Given the description of an element on the screen output the (x, y) to click on. 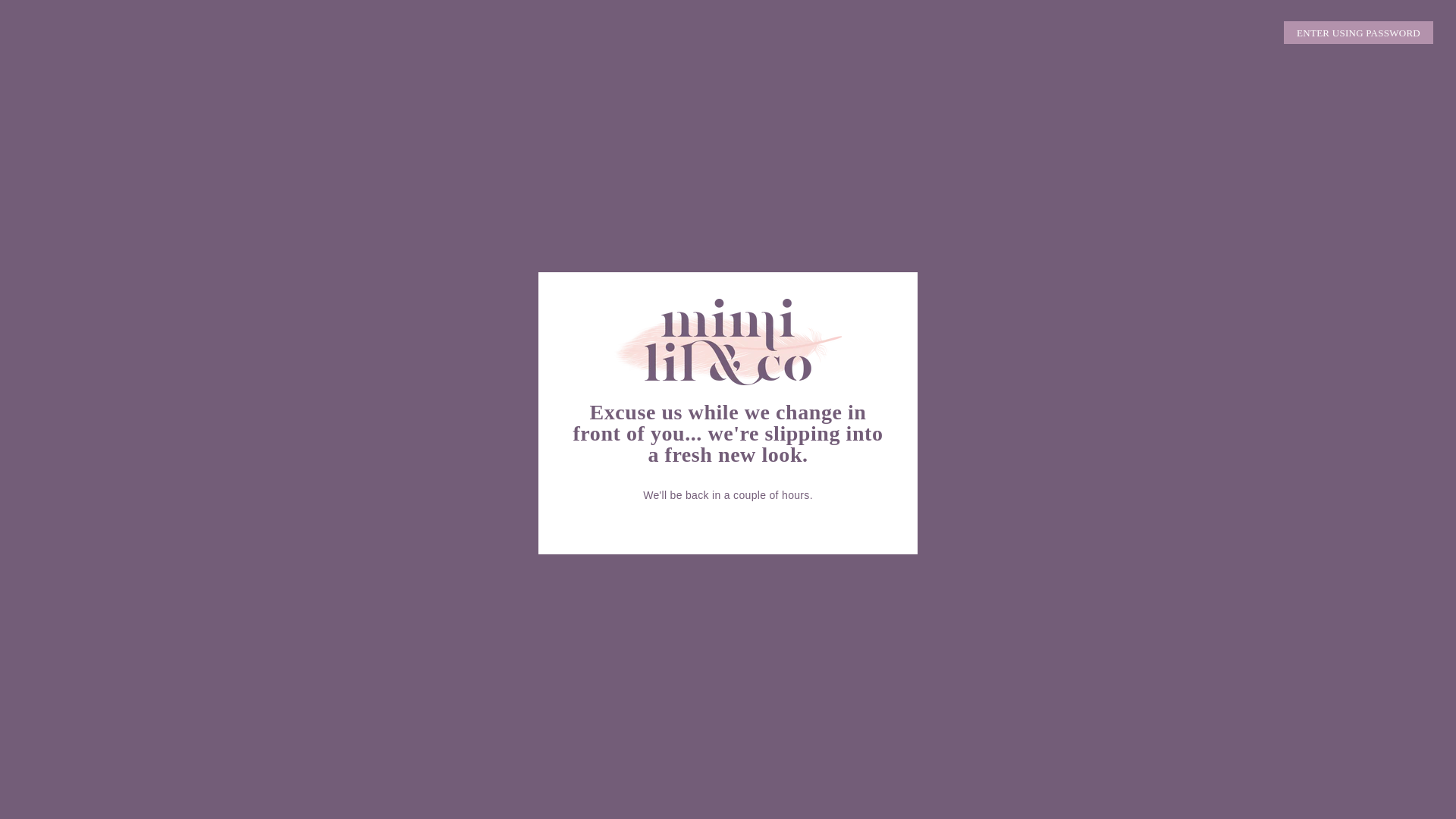
Share by Email Element type: hover (749, 519)
Share on Facebook Element type: hover (702, 519)
ENTER USING PASSWORD Element type: text (1358, 32)
Pin on Pinterest Element type: hover (733, 519)
Tweet on Twitter Element type: hover (718, 519)
